Given the description of an element on the screen output the (x, y) to click on. 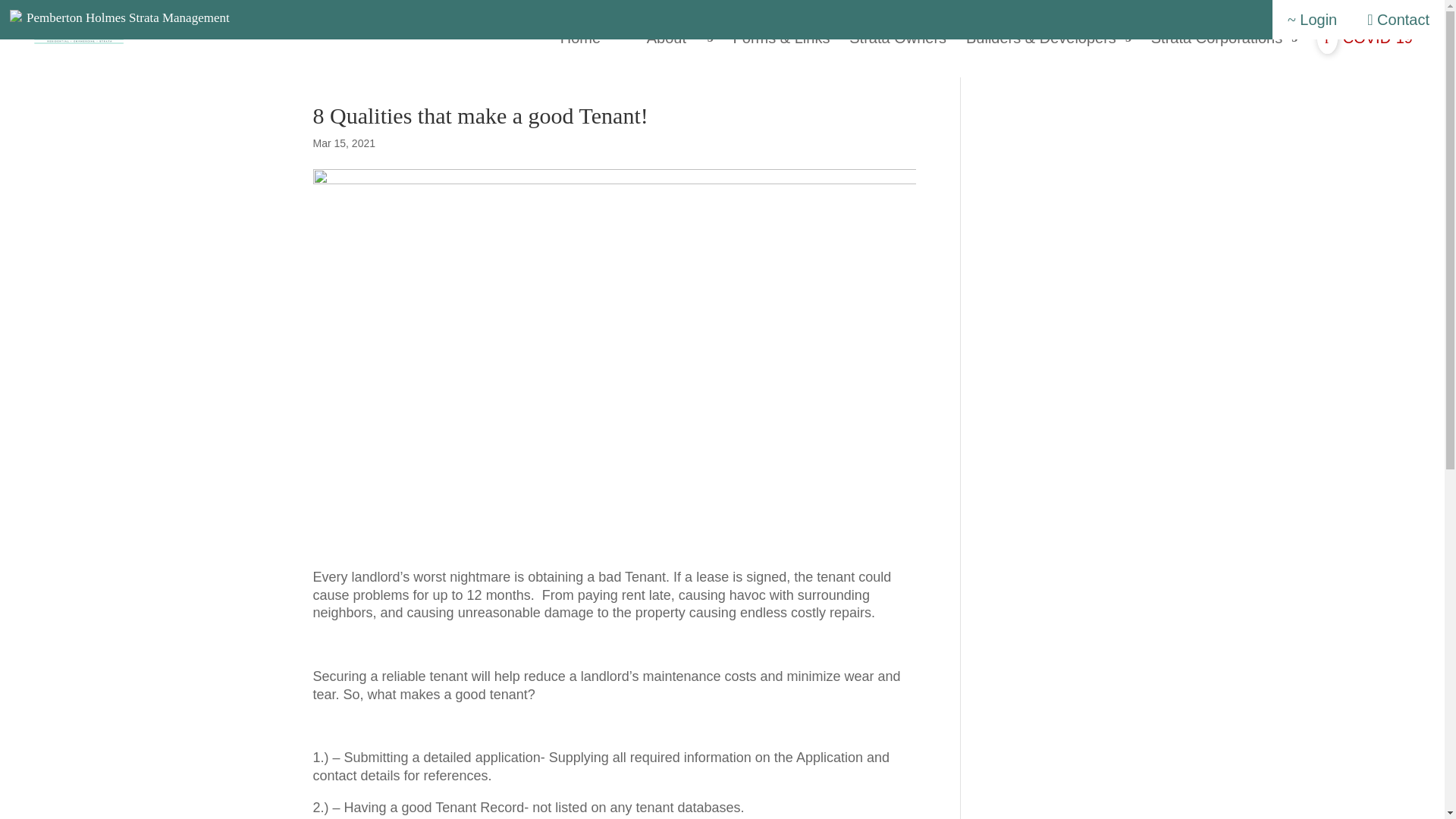
COVID-19 (1364, 43)
Pemberton Holmes Strata Management (128, 17)
Home (593, 43)
About (679, 43)
Strata Corporations (1224, 43)
Strata Owners (897, 43)
